Given the description of an element on the screen output the (x, y) to click on. 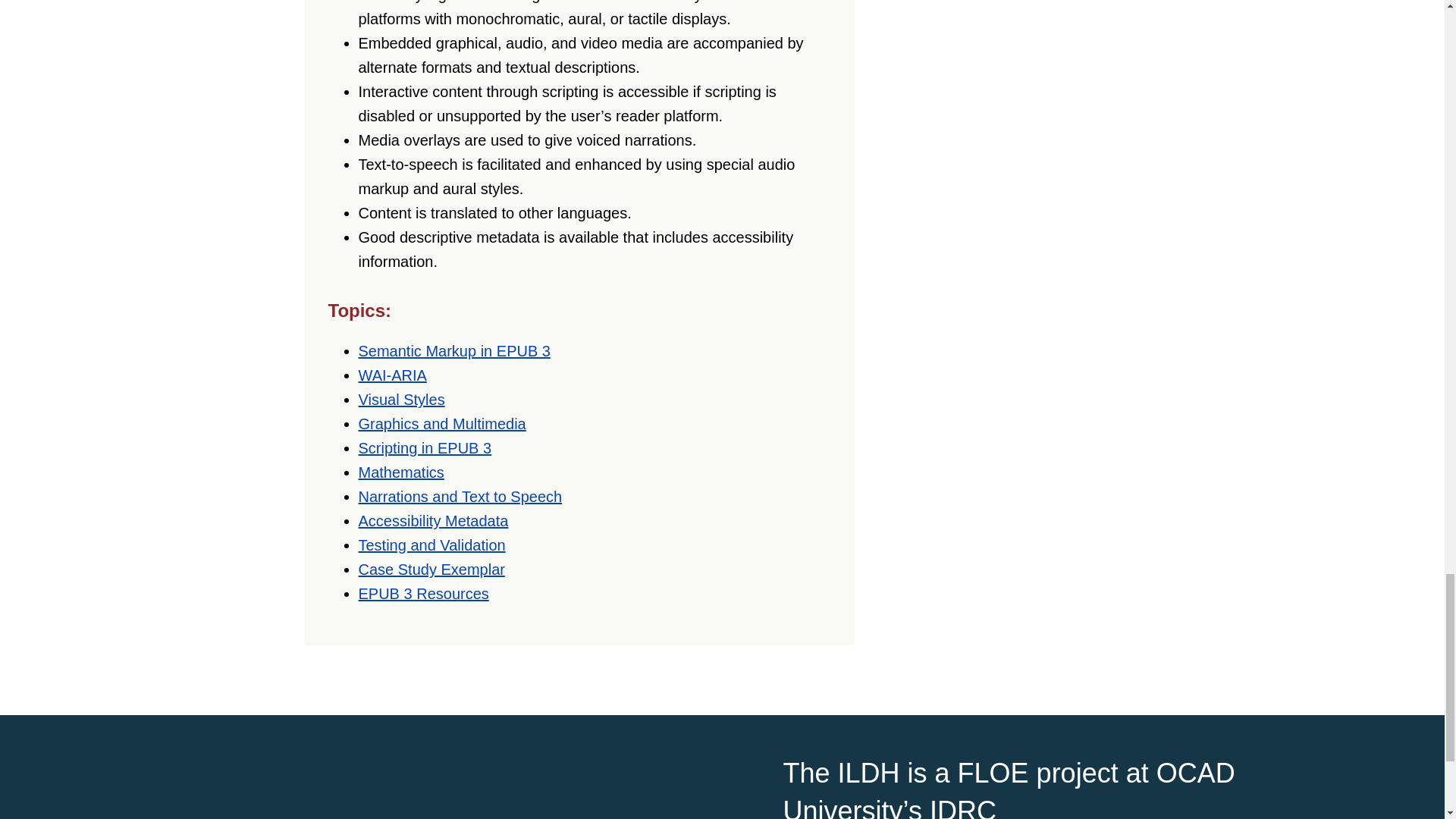
EPUB 3 Resources (422, 593)
WAI-ARIA (392, 375)
Accessibility Metadata (433, 520)
Case Study Exemplar (430, 569)
Visual Styles (401, 399)
Semantic Markup in EPUB 3 (454, 351)
Mathematics (401, 472)
Narrations and Text to Speech (460, 496)
Graphics and Multimedia (441, 423)
Scripting in EPUB 3 (425, 447)
